Given the description of an element on the screen output the (x, y) to click on. 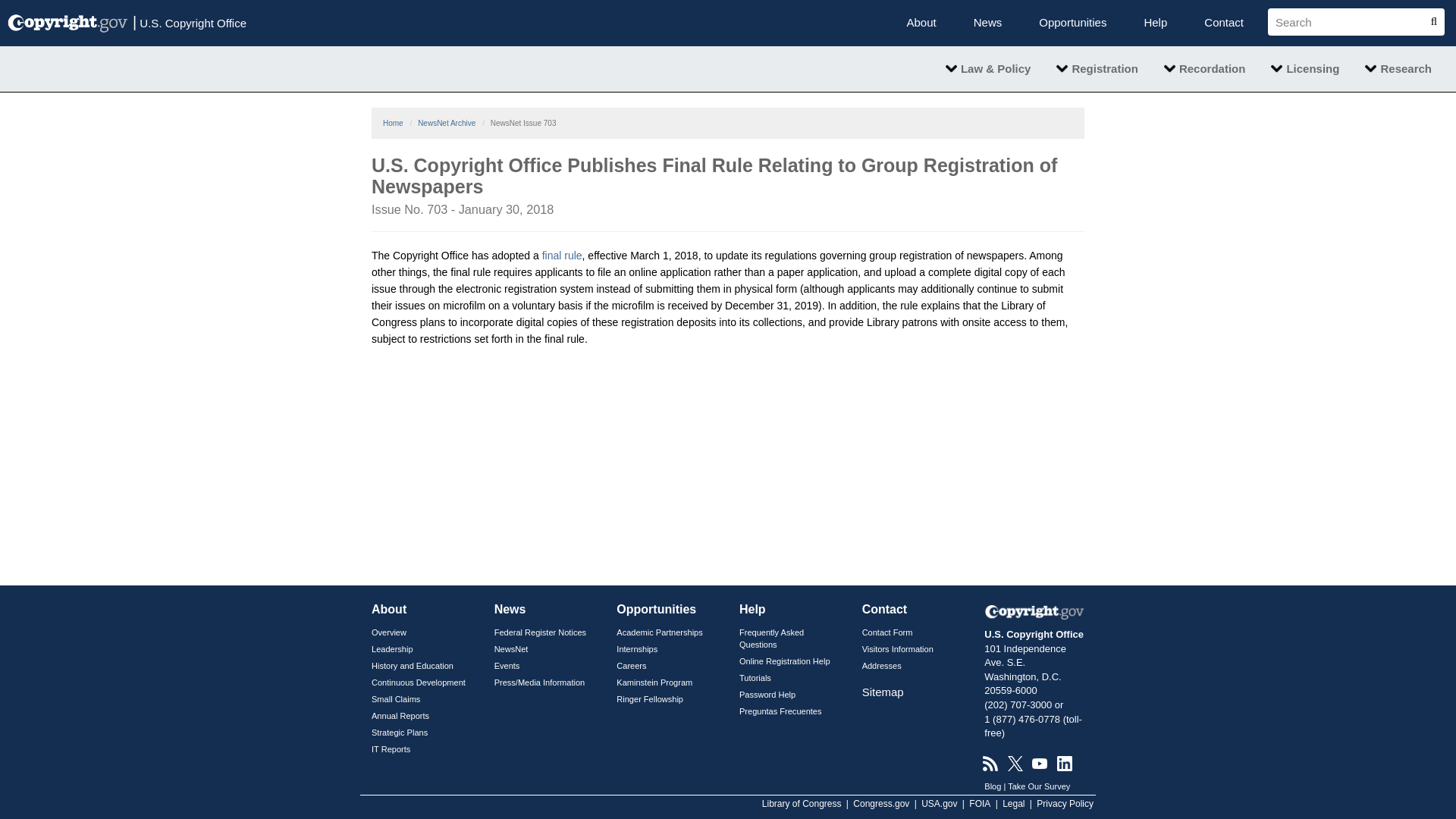
Opportunities (1072, 22)
Search Copyright.gov (1350, 22)
Help (1155, 22)
News (987, 22)
About (921, 22)
Contact (1223, 22)
Registration (1097, 68)
